Given the description of an element on the screen output the (x, y) to click on. 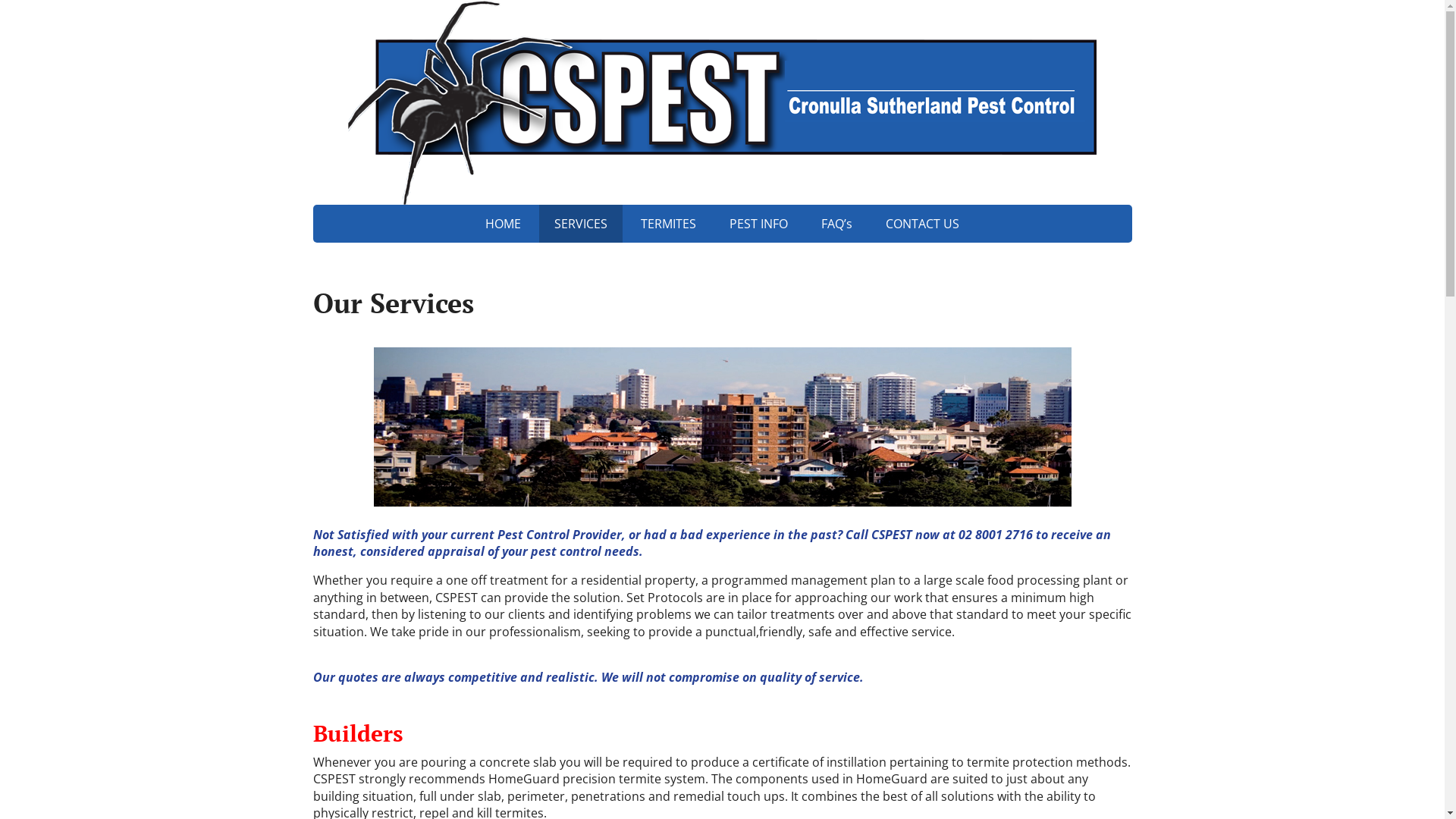
TERMITES Element type: text (668, 223)
HOME Element type: text (503, 223)
PEST INFO Element type: text (758, 223)
CONTACT US Element type: text (922, 223)
